Given the description of an element on the screen output the (x, y) to click on. 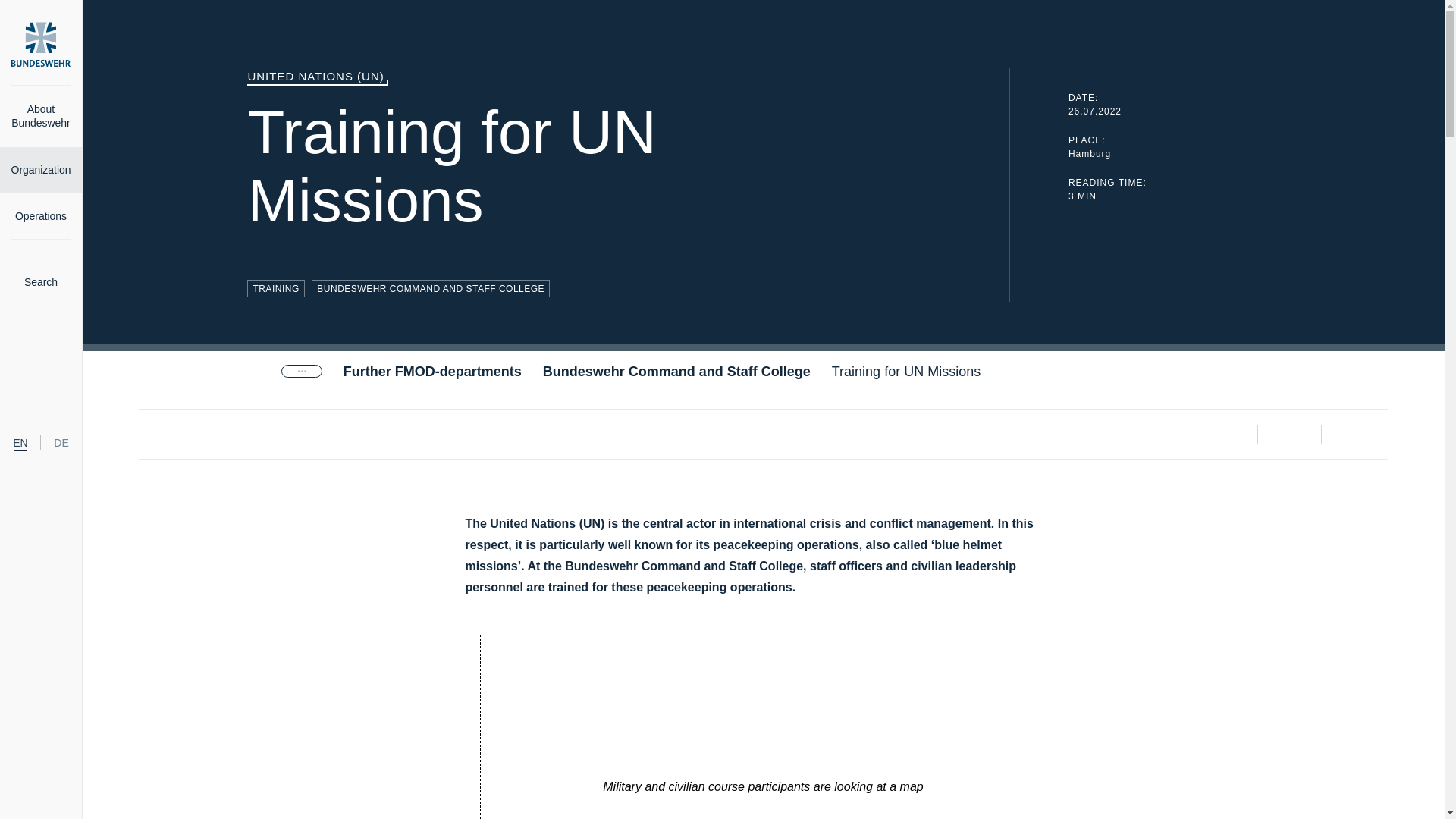
United Nations (913, 371)
United Nations (591, 522)
German (60, 442)
Bundeswehr Command and Staff College (676, 372)
United Nations (370, 75)
Logo Bundeswehr - Go to homepage (40, 44)
English (20, 442)
United Nations (612, 132)
Search (40, 273)
Further FMOD-departments (432, 372)
